Given the description of an element on the screen output the (x, y) to click on. 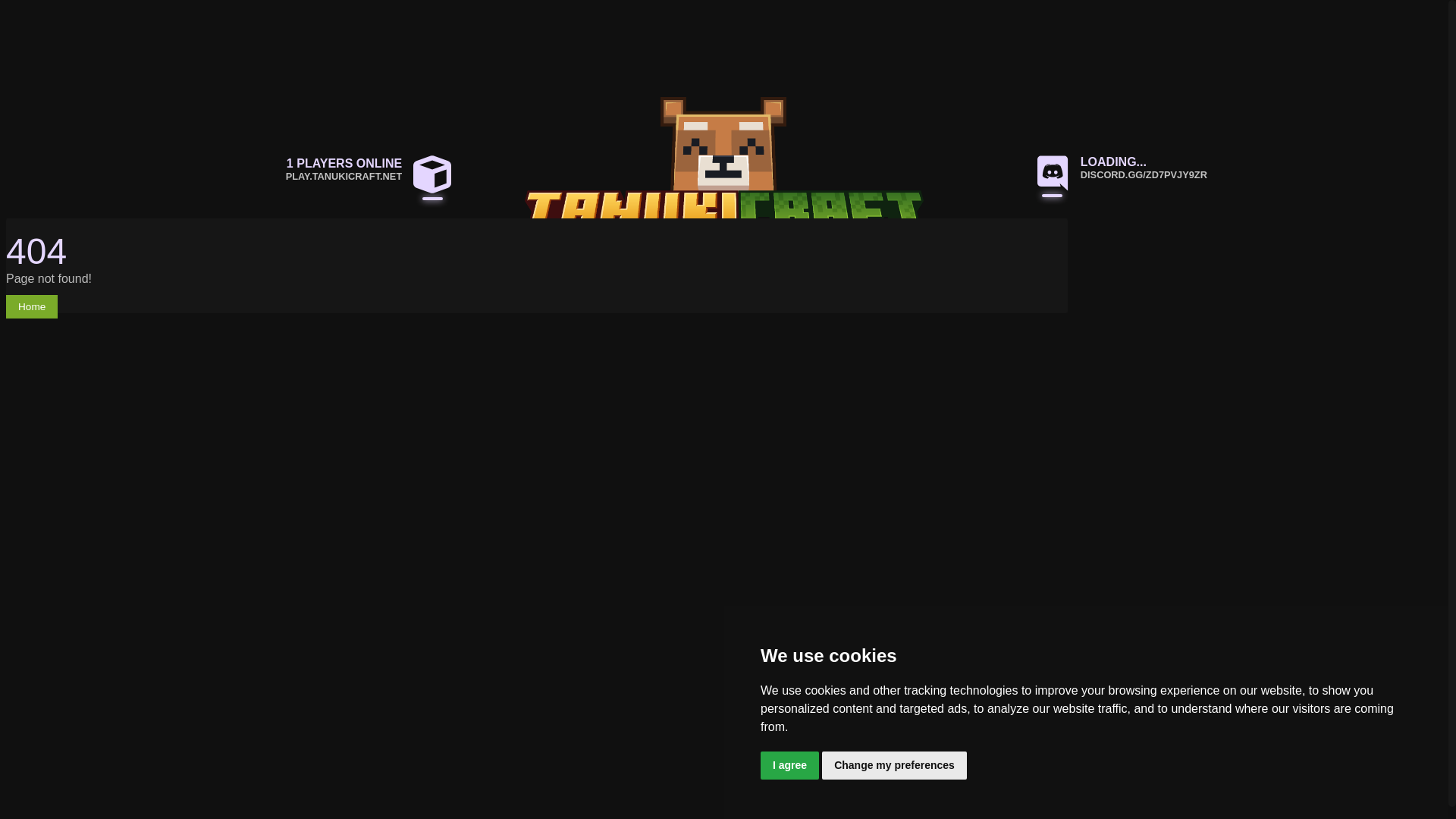
Change my preferences (894, 765)
I agree (789, 765)
Home (31, 306)
